Given the description of an element on the screen output the (x, y) to click on. 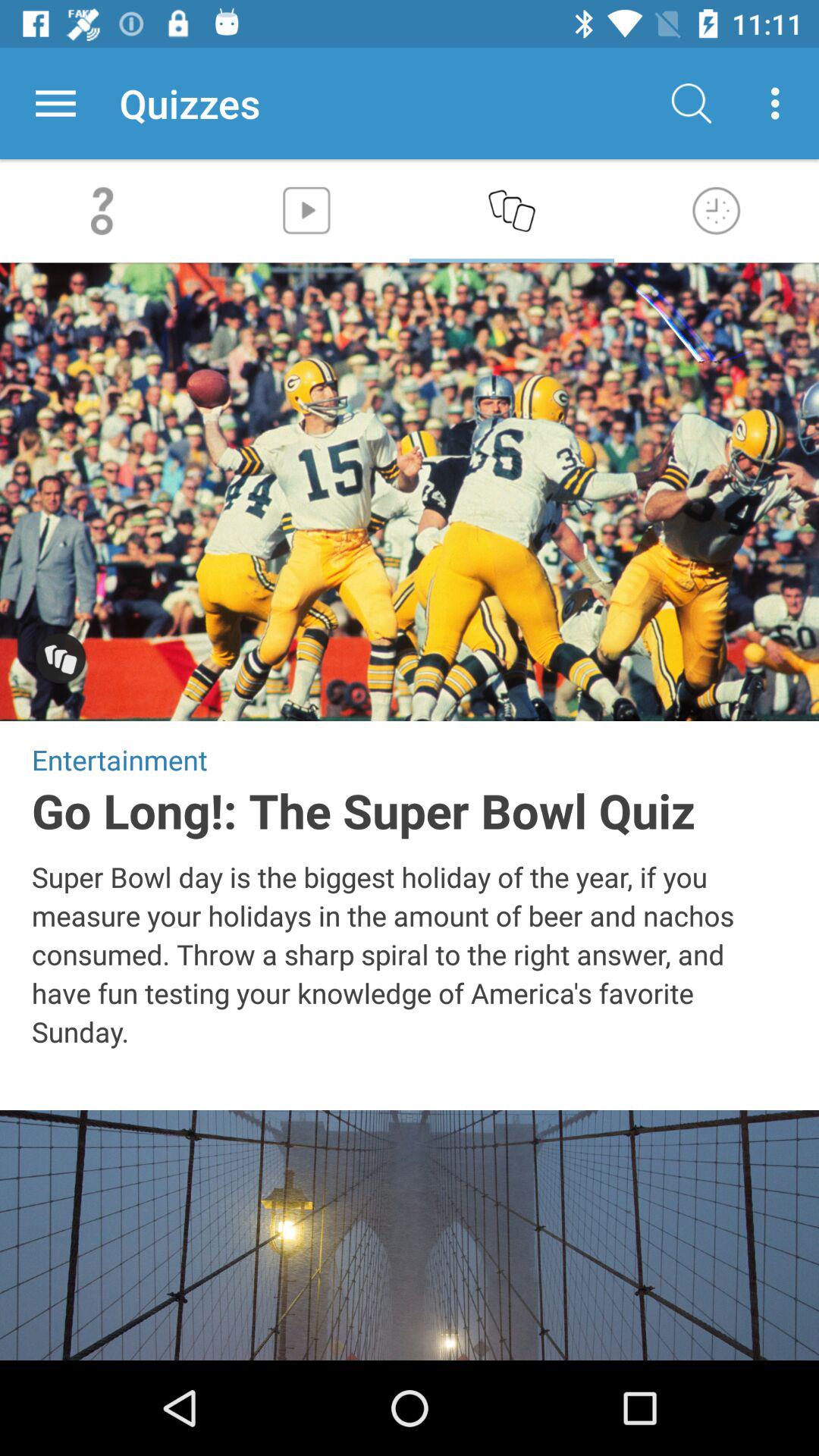
show additional images (60, 660)
